Given the description of an element on the screen output the (x, y) to click on. 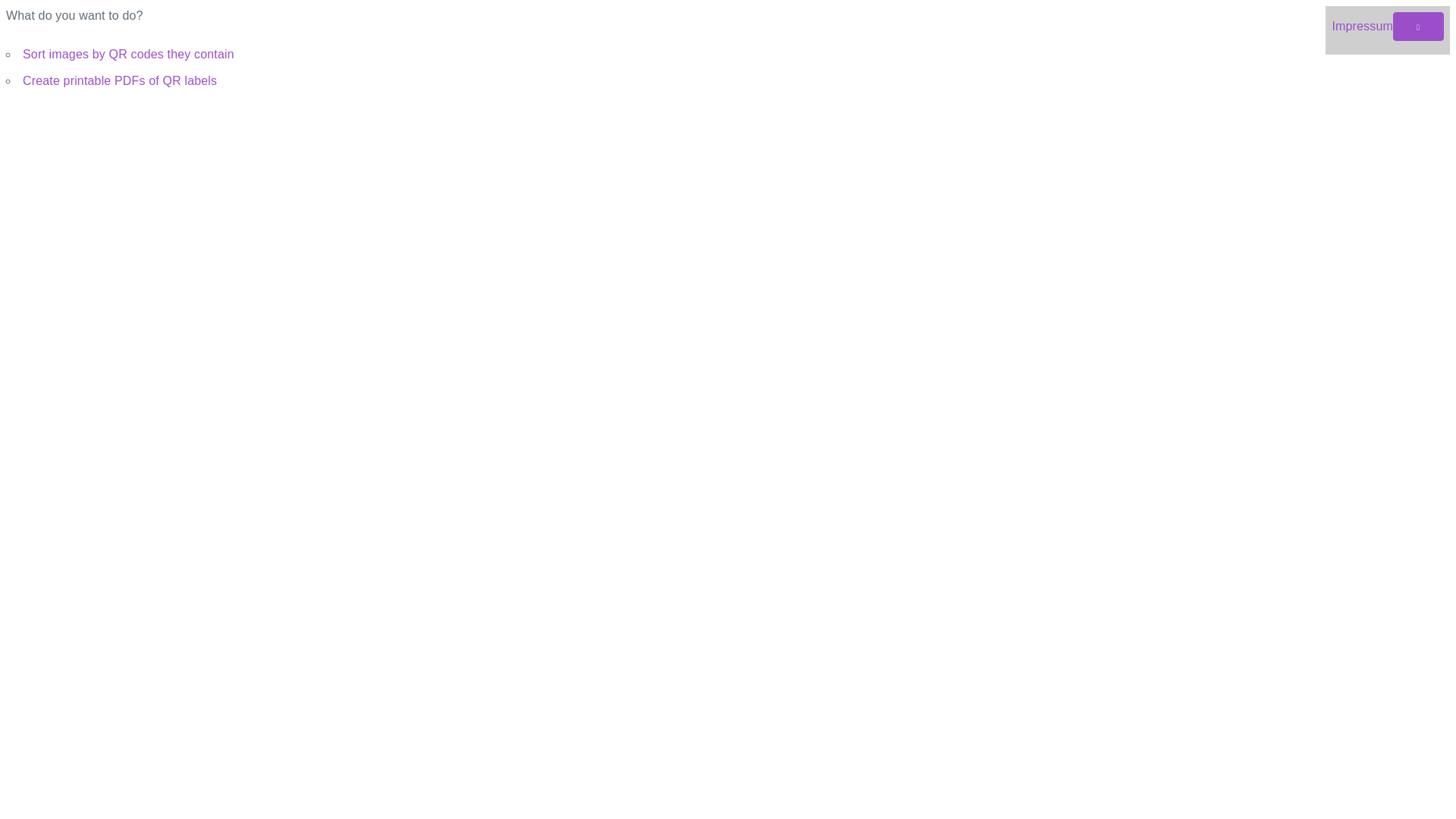
Impressum Element type: text (1362, 25)
Create printable PDFs of QR labels Element type: text (119, 80)
Sort images by QR codes they contain Element type: text (128, 53)
